Given the description of an element on the screen output the (x, y) to click on. 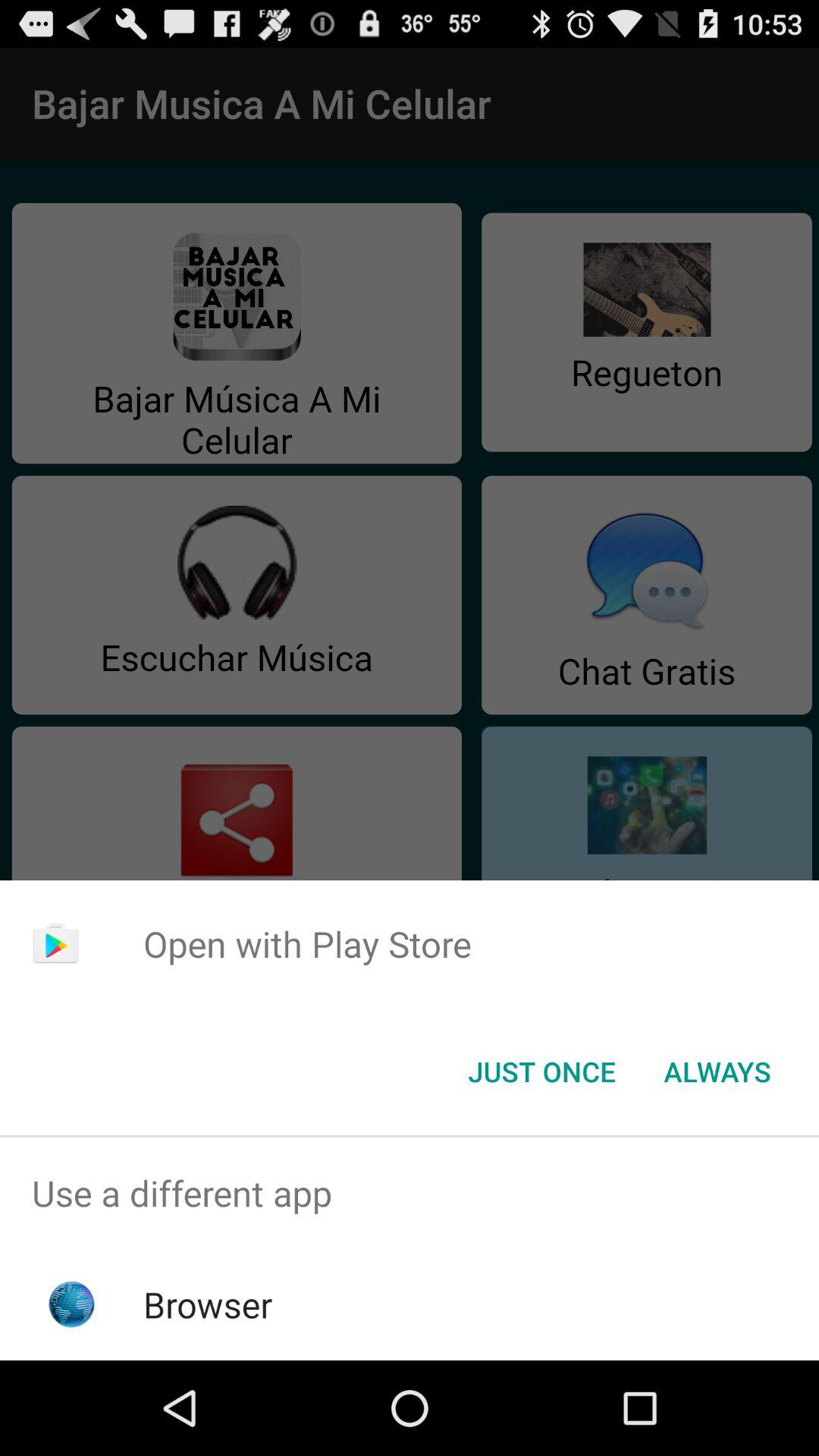
swipe to browser app (207, 1304)
